Given the description of an element on the screen output the (x, y) to click on. 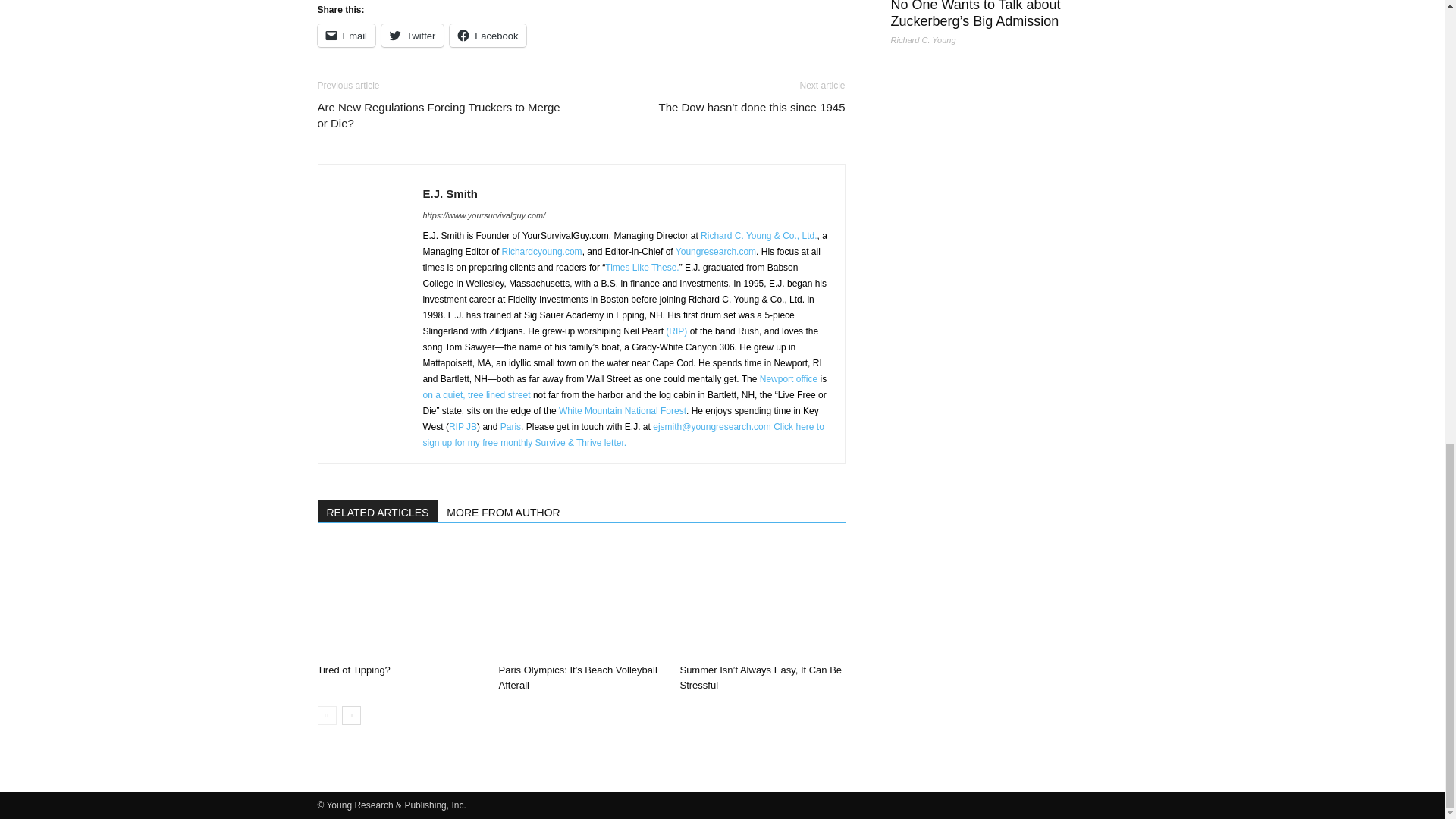
Tired of Tipping? (353, 669)
Click to share on Twitter (412, 35)
Click to share on Facebook (487, 35)
Click to email a link to a friend (346, 35)
Tired of Tipping? (399, 600)
